Given the description of an element on the screen output the (x, y) to click on. 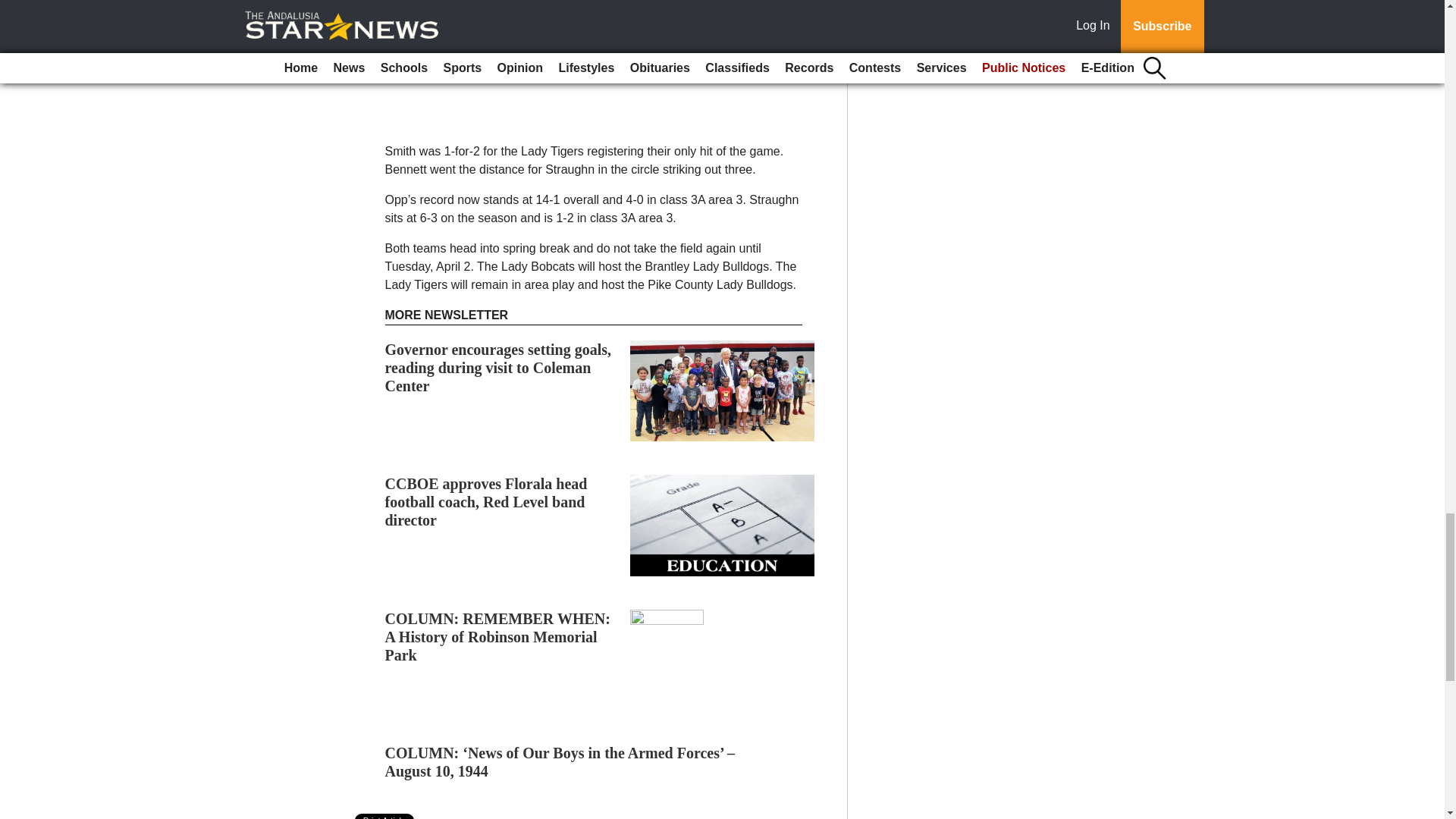
COLUMN: REMEMBER WHEN: A History of Robinson Memorial Park (497, 636)
COLUMN: REMEMBER WHEN: A History of Robinson Memorial Park (497, 636)
Print Article (384, 816)
